Given the description of an element on the screen output the (x, y) to click on. 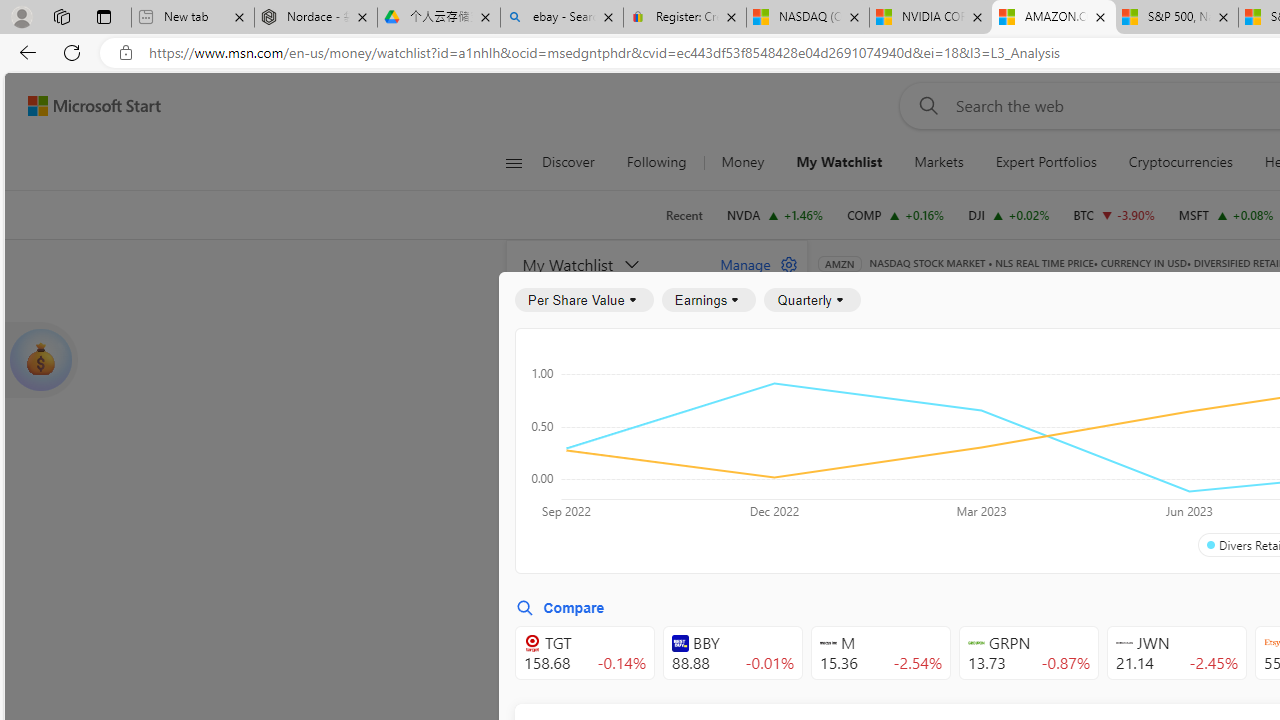
Markets (939, 162)
Cryptocurrencies (1179, 162)
Discover (568, 162)
COMP NASDAQ increase 17,754.82 +29.06 +0.16% (895, 214)
All (842, 445)
Workspaces (61, 16)
My Watchlist (839, 162)
Discover (575, 162)
Income Statement (968, 391)
My Watchlist (838, 162)
Recent (683, 215)
Manage (751, 264)
Growth Rates (1058, 445)
